Given the description of an element on the screen output the (x, y) to click on. 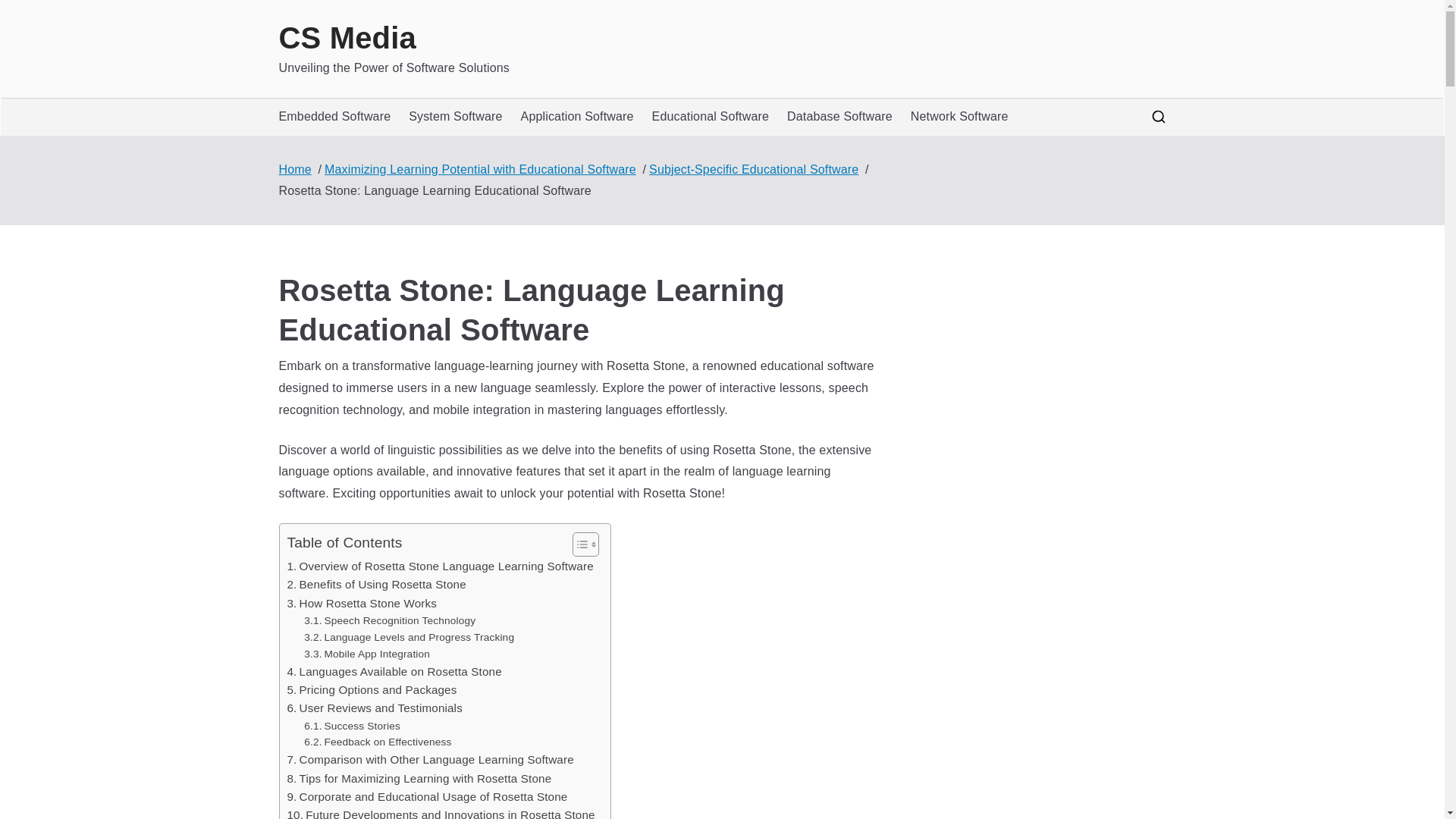
Language Levels and Progress Tracking (408, 637)
Languages Available on Rosetta Stone (393, 671)
Corporate and Educational Usage of Rosetta Stone (426, 796)
Corporate and Educational Usage of Rosetta Stone (426, 796)
Pricing Options and Packages (371, 689)
Mobile App Integration (366, 654)
Overview of Rosetta Stone Language Learning Software (439, 566)
Application Software (577, 116)
System Software (455, 116)
Future Developments and Innovations in Rosetta Stone (440, 812)
Success Stories (352, 726)
Speech Recognition Technology (390, 620)
Educational Software (710, 116)
Tips for Maximizing Learning with Rosetta Stone (418, 778)
Benefits of Using Rosetta Stone (375, 584)
